Given the description of an element on the screen output the (x, y) to click on. 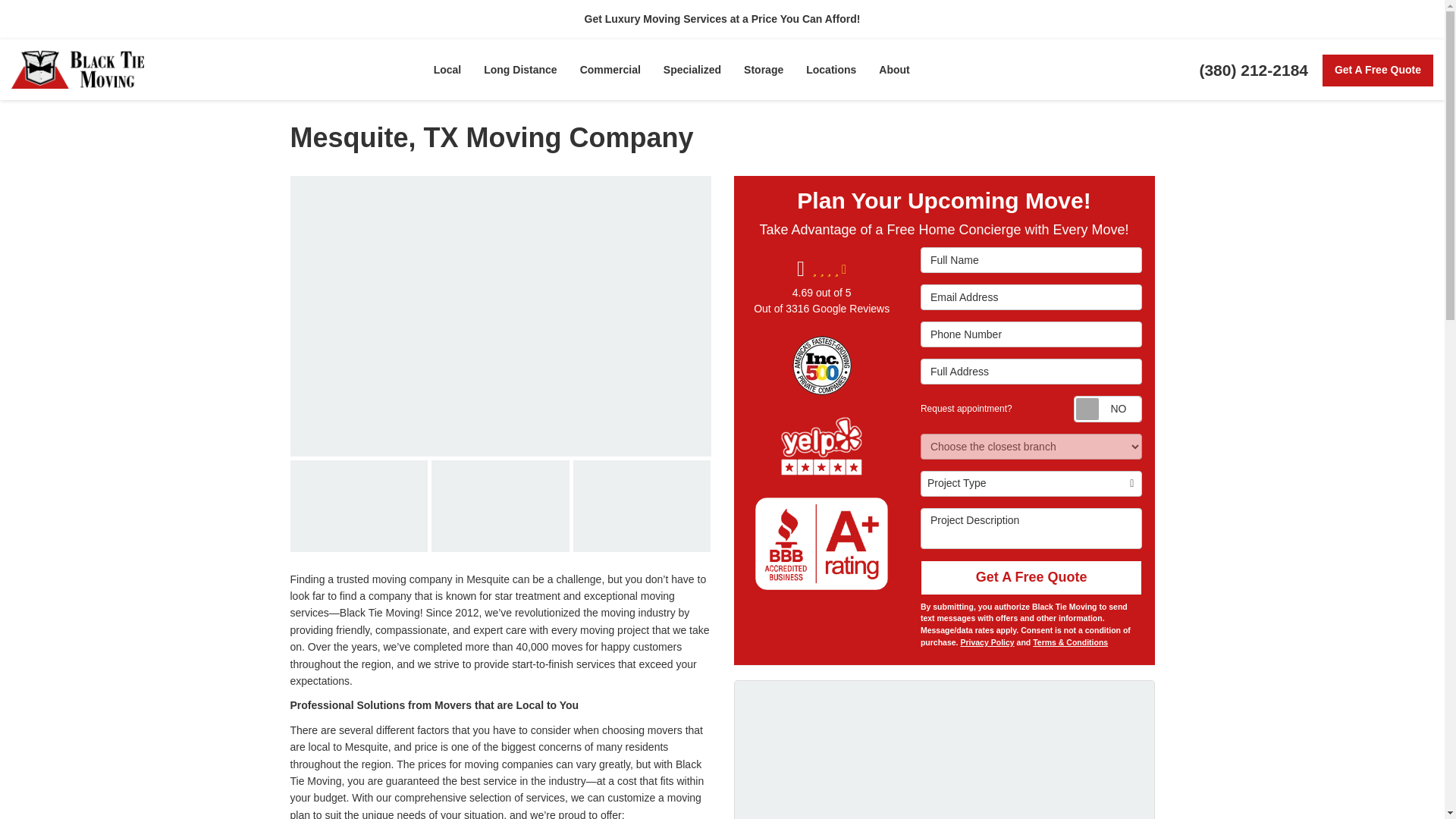
Storage (763, 69)
Long Distance (519, 69)
Commercial (610, 69)
Specialized (692, 69)
Get A Free Quote (1377, 70)
Locations (830, 69)
Get A Free Quote (1377, 70)
